Given the description of an element on the screen output the (x, y) to click on. 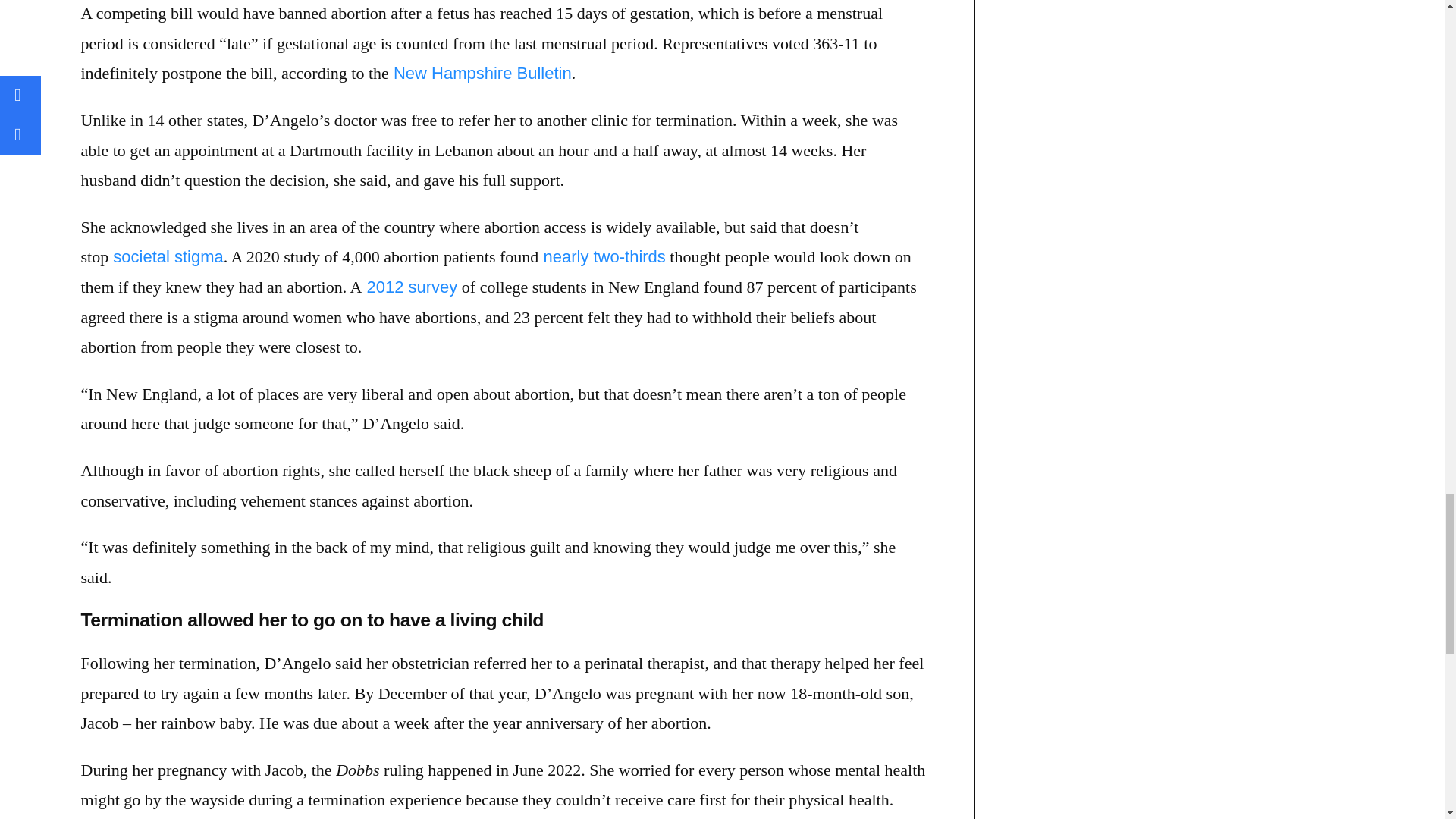
 societal stigma (165, 256)
 nearly two-thirds (601, 256)
 New Hampshire Bulletin (480, 72)
 2012 survey (409, 286)
